Given the description of an element on the screen output the (x, y) to click on. 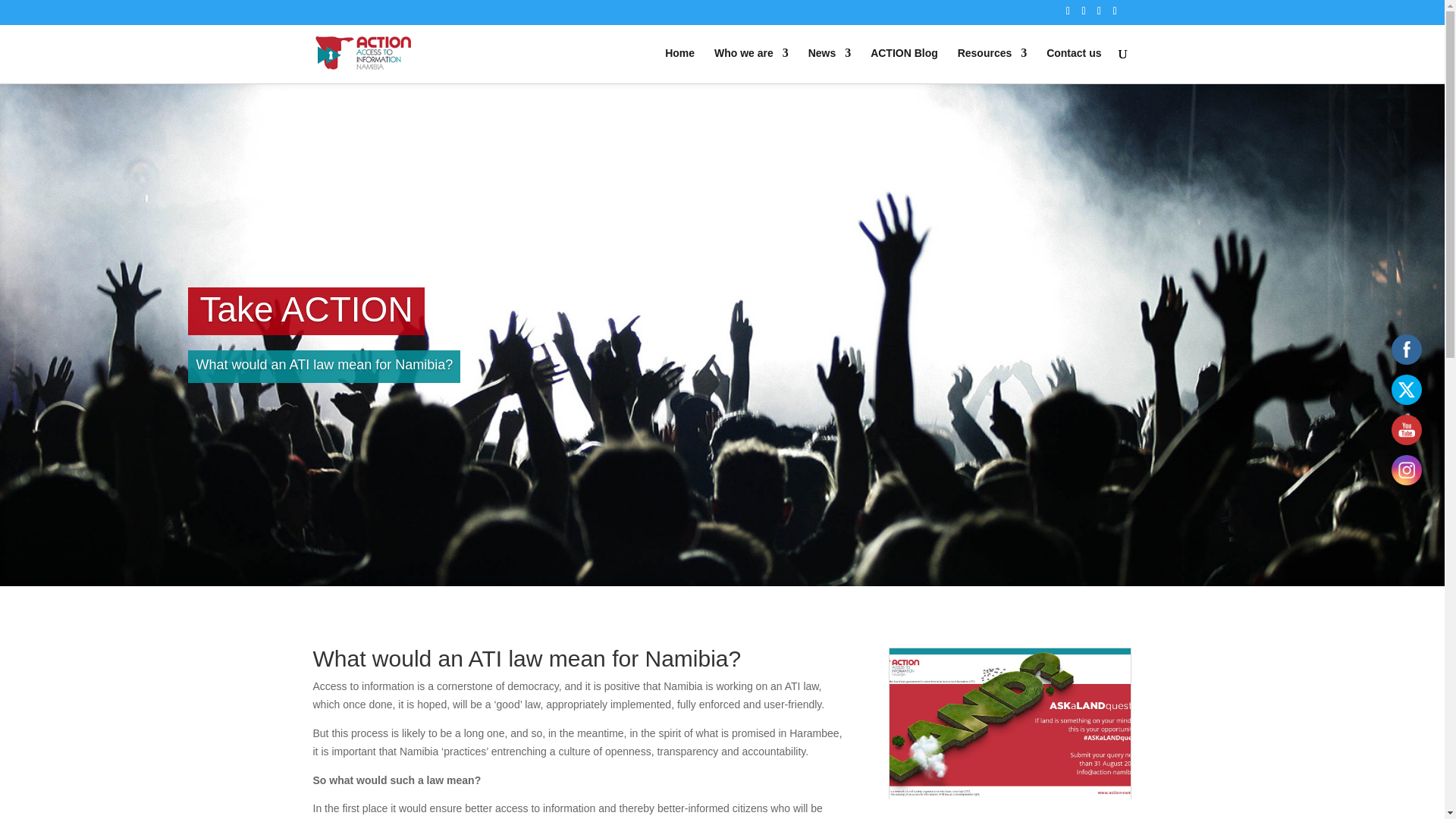
News (829, 65)
Contact us (1073, 65)
ACTION Blog (903, 65)
Who we are (751, 65)
Resources (992, 65)
